Given the description of an element on the screen output the (x, y) to click on. 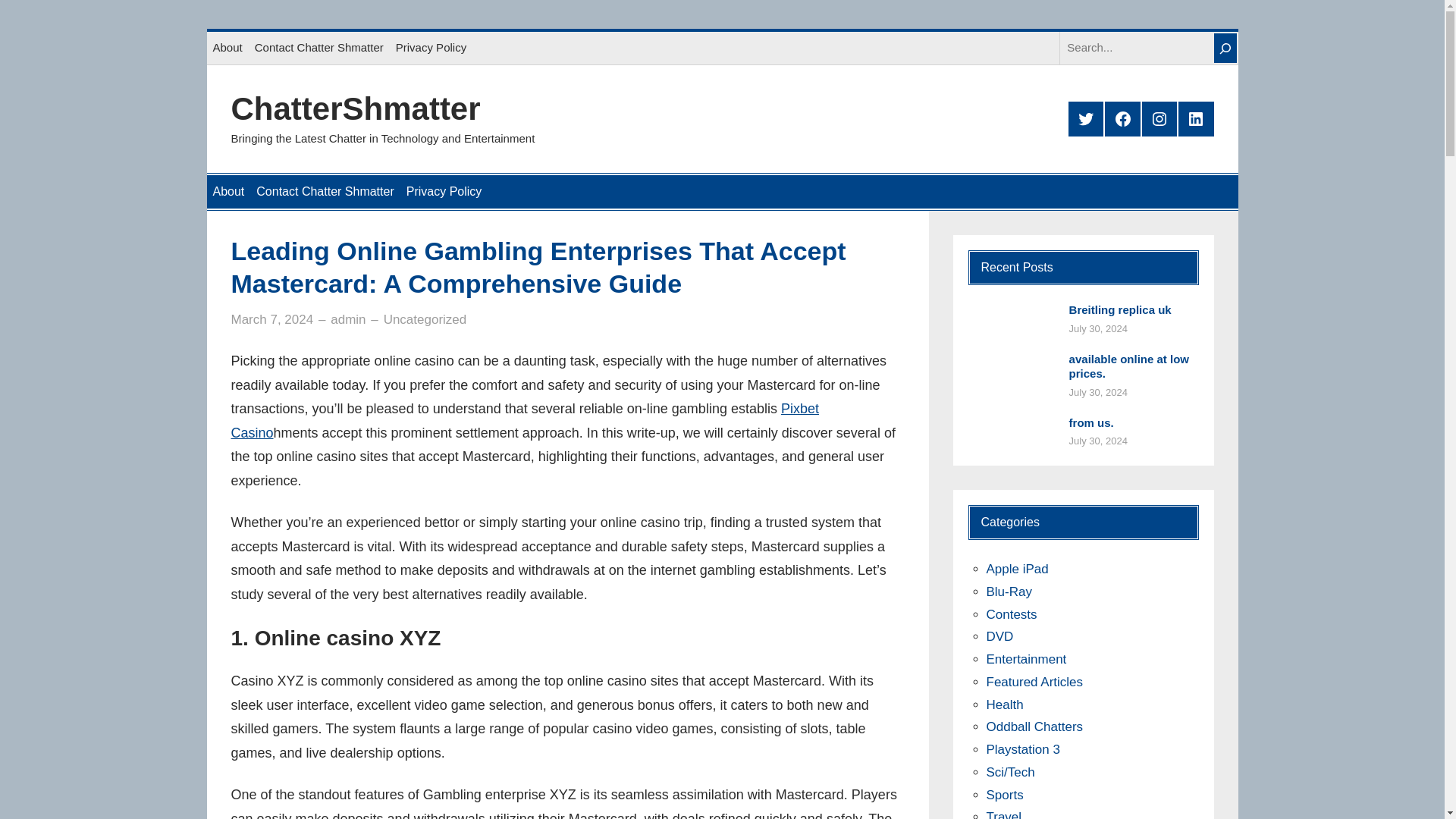
Blu-Ray (1007, 591)
LinkedIn (1194, 118)
from us. (1090, 423)
Contact Chatter Shmatter (324, 191)
Twitter (1085, 118)
Playstation 3 (1022, 749)
Instagram (1158, 118)
Health (1004, 704)
Privacy Policy (430, 47)
available online at low prices. (1133, 366)
